Given the description of an element on the screen output the (x, y) to click on. 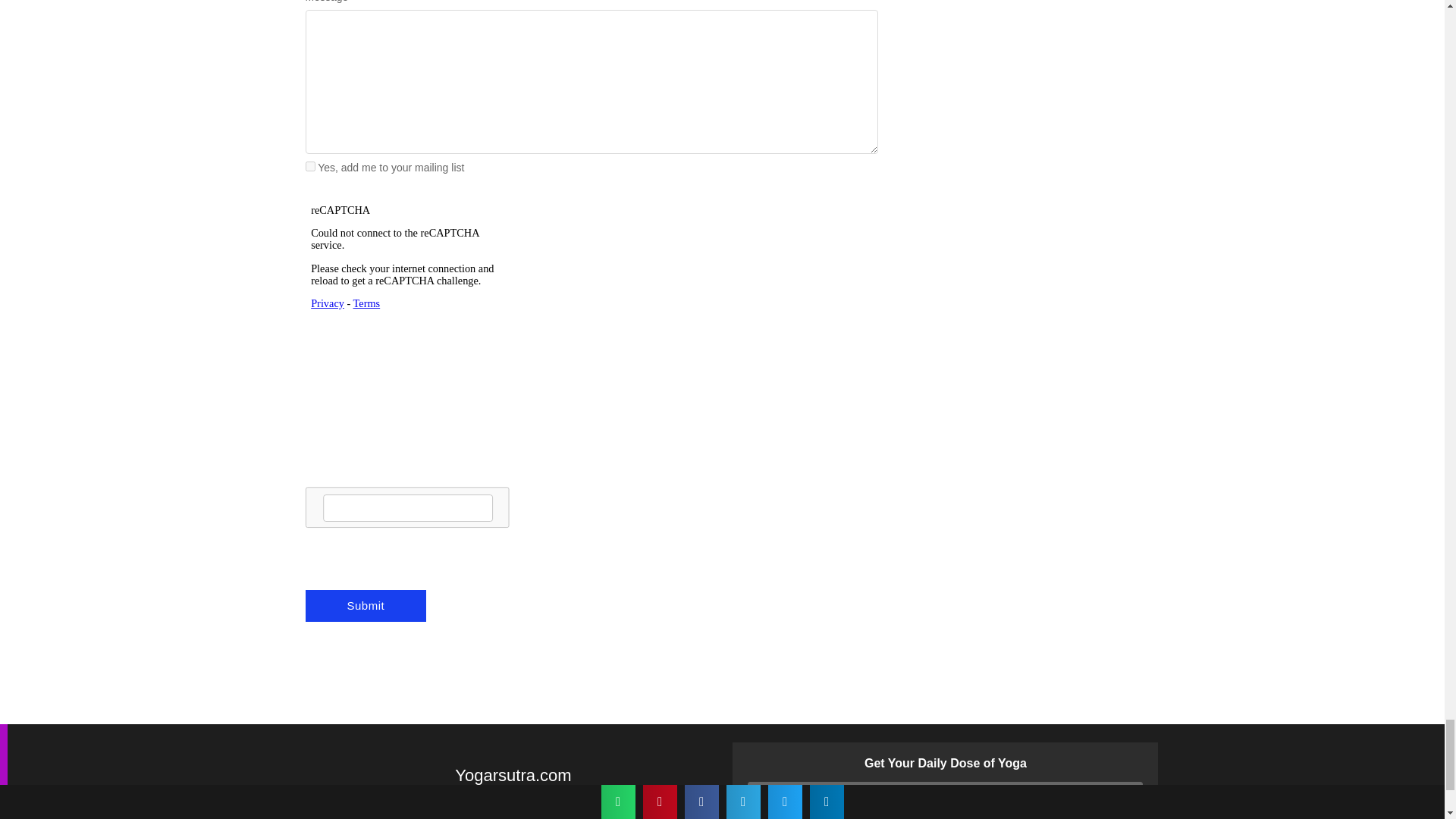
1 (309, 166)
Submit (365, 605)
